Given the description of an element on the screen output the (x, y) to click on. 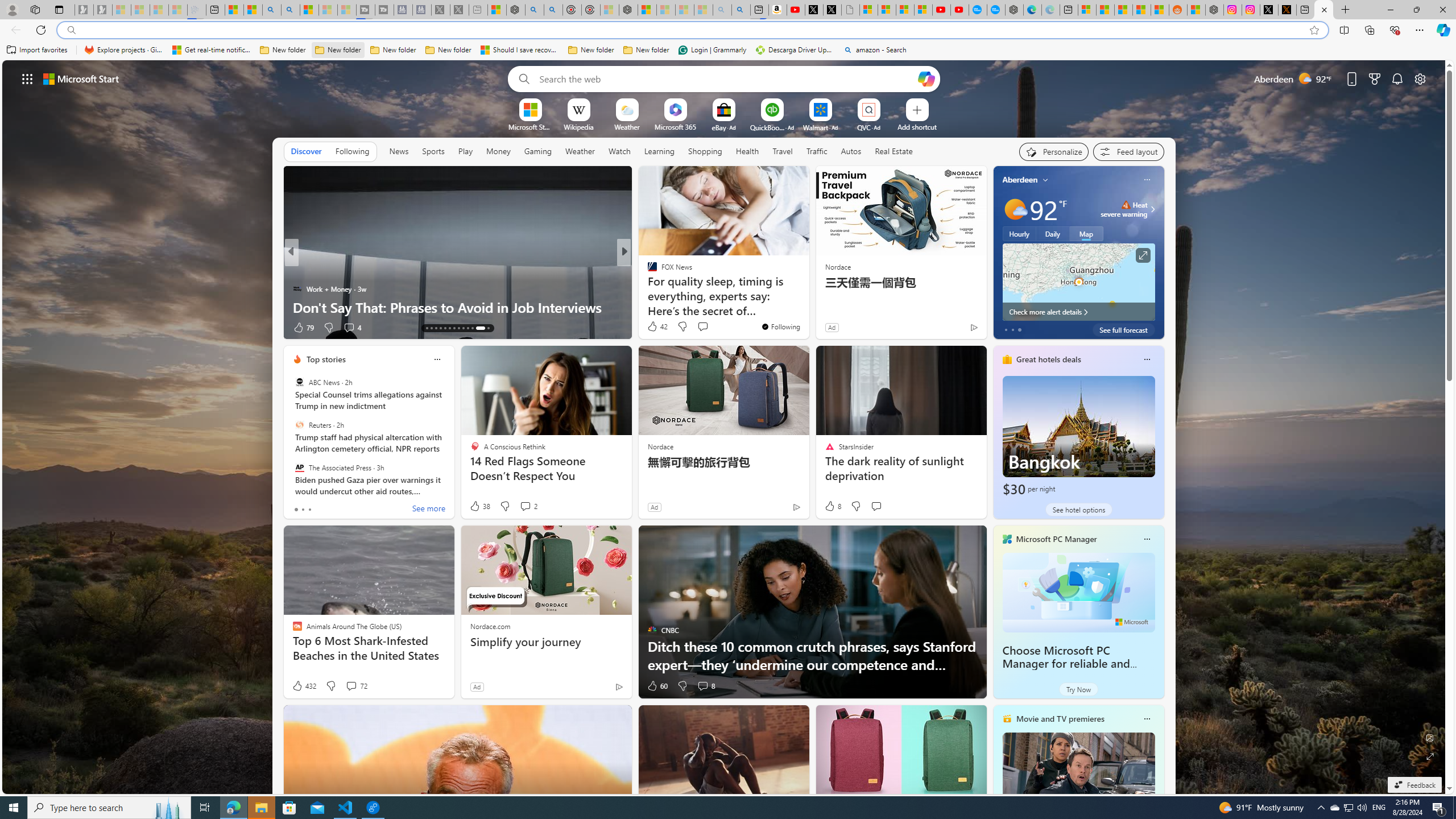
Add a site (916, 126)
tab-1 (302, 509)
AutomationID: tab-16 (440, 328)
New folder (646, 49)
Expand background (1430, 756)
8 Like (831, 505)
YouTube Kids - An App Created for Kids to Explore Content (960, 9)
AutomationID: tab-19 (454, 328)
